Given the description of an element on the screen output the (x, y) to click on. 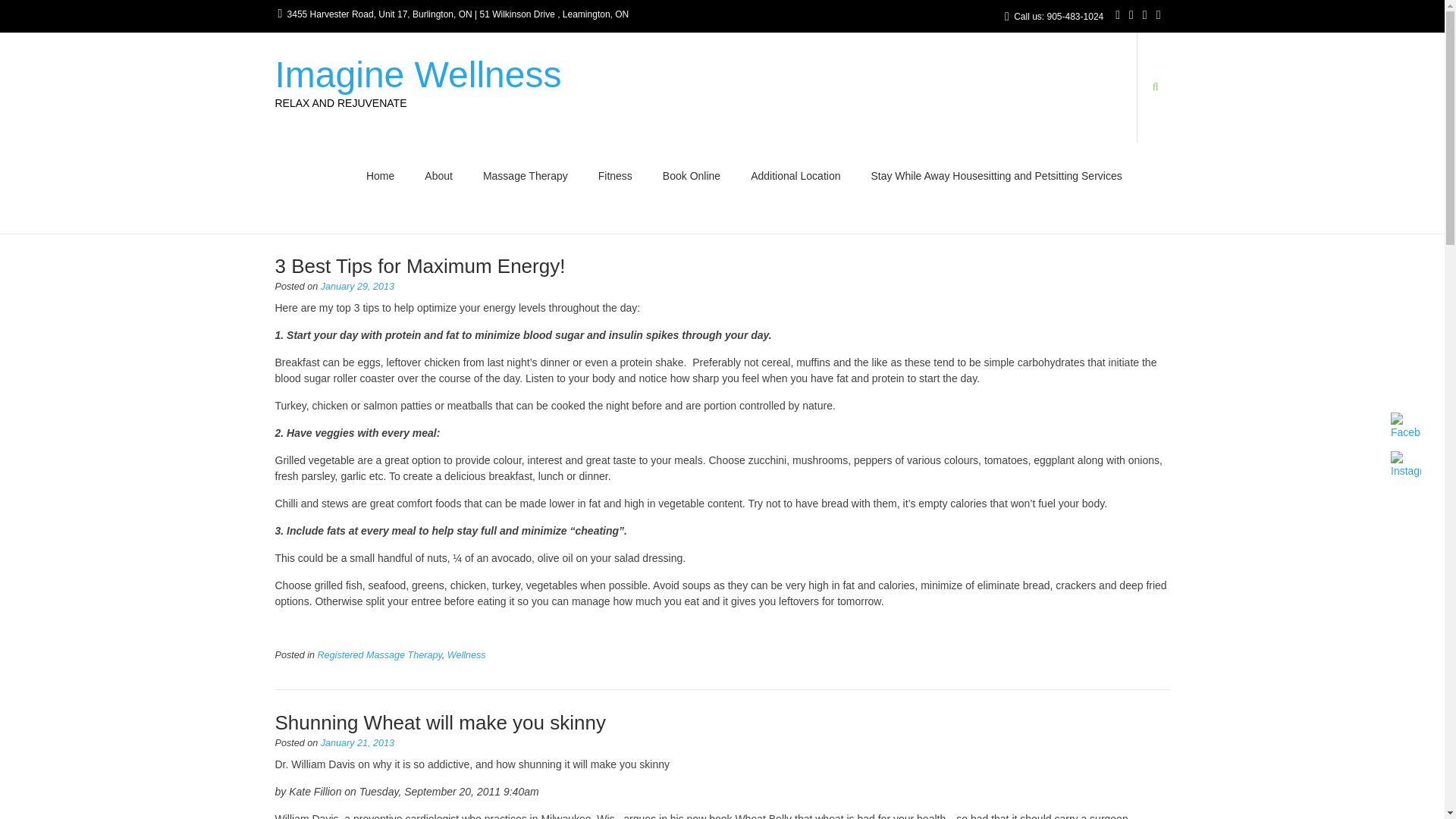
3 Best Tips for Maximum Energy! (419, 265)
January 21, 2013 (357, 742)
Registered Massage Therapy (379, 655)
Facebook (1405, 426)
Imagine Wellness (417, 74)
Imagine Wellness (417, 74)
Massage Therapy (525, 177)
Instagram (1405, 465)
January 29, 2013 (357, 286)
Shunning Wheat will make you skinny (440, 722)
